Given the description of an element on the screen output the (x, y) to click on. 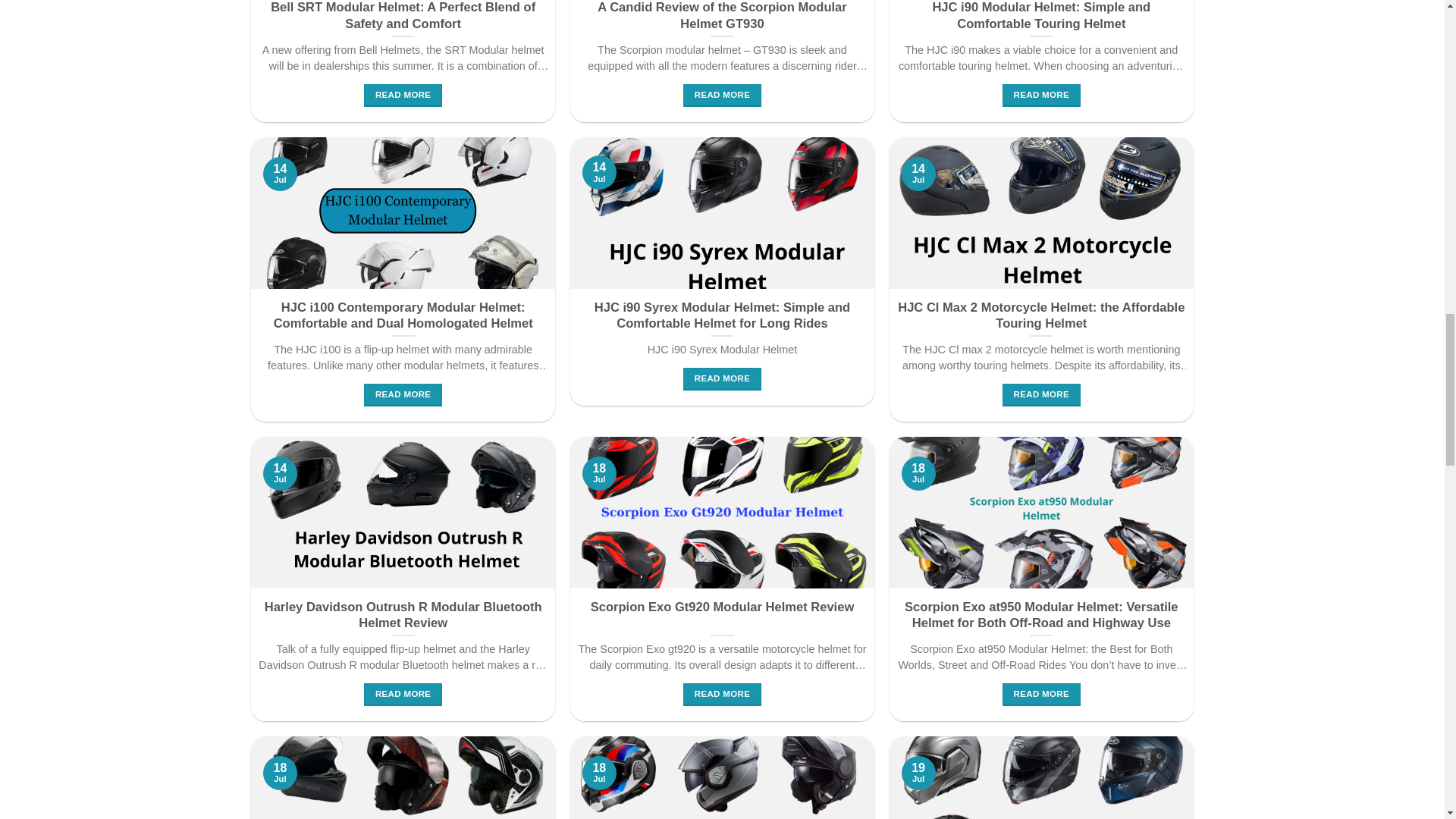
READ MORE (721, 95)
A Candid Review of the Scorpion Modular Helmet GT930 (722, 15)
READ MORE (403, 95)
